Given the description of an element on the screen output the (x, y) to click on. 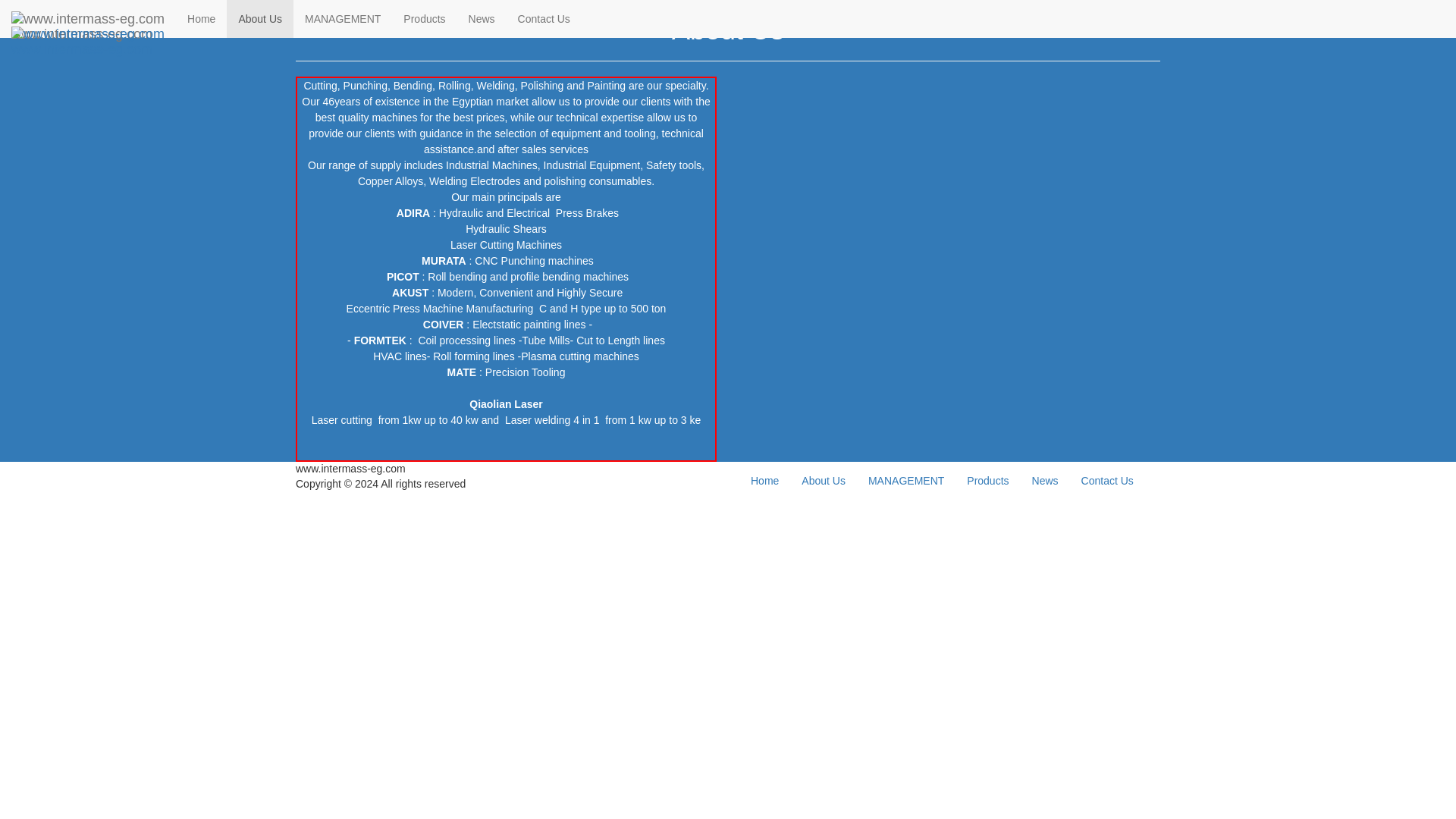
Products (424, 18)
News (481, 18)
MANAGEMENT (342, 18)
www.intermass-eg.com (88, 34)
Home (201, 18)
www.intermass-eg.com (88, 18)
Contact Us (543, 18)
About Us (260, 18)
